Given the description of an element on the screen output the (x, y) to click on. 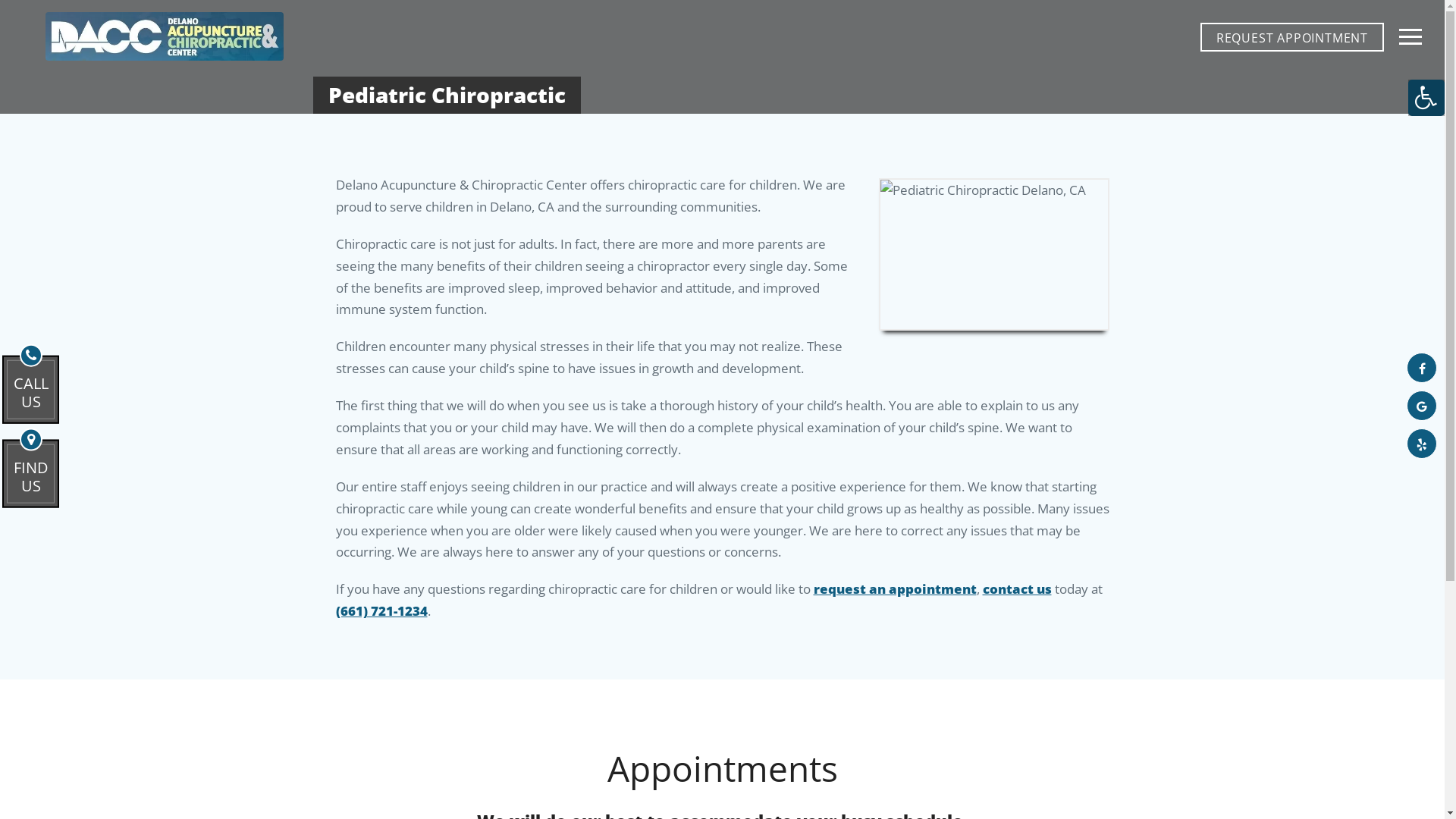
Accessibility Helper sidebar Element type: hover (1426, 97)
request an appointment Element type: text (893, 588)
contact us Element type: text (1016, 588)
1224 JEFFERSON STREET, SUITE 3
DELANO, CA 93215 Element type: text (133, 497)
REQUEST APPOINTMENT Element type: text (1291, 36)
(661) 721-1234 Element type: text (380, 610)
(661) 721-1234 Element type: text (133, 418)
